Given the description of an element on the screen output the (x, y) to click on. 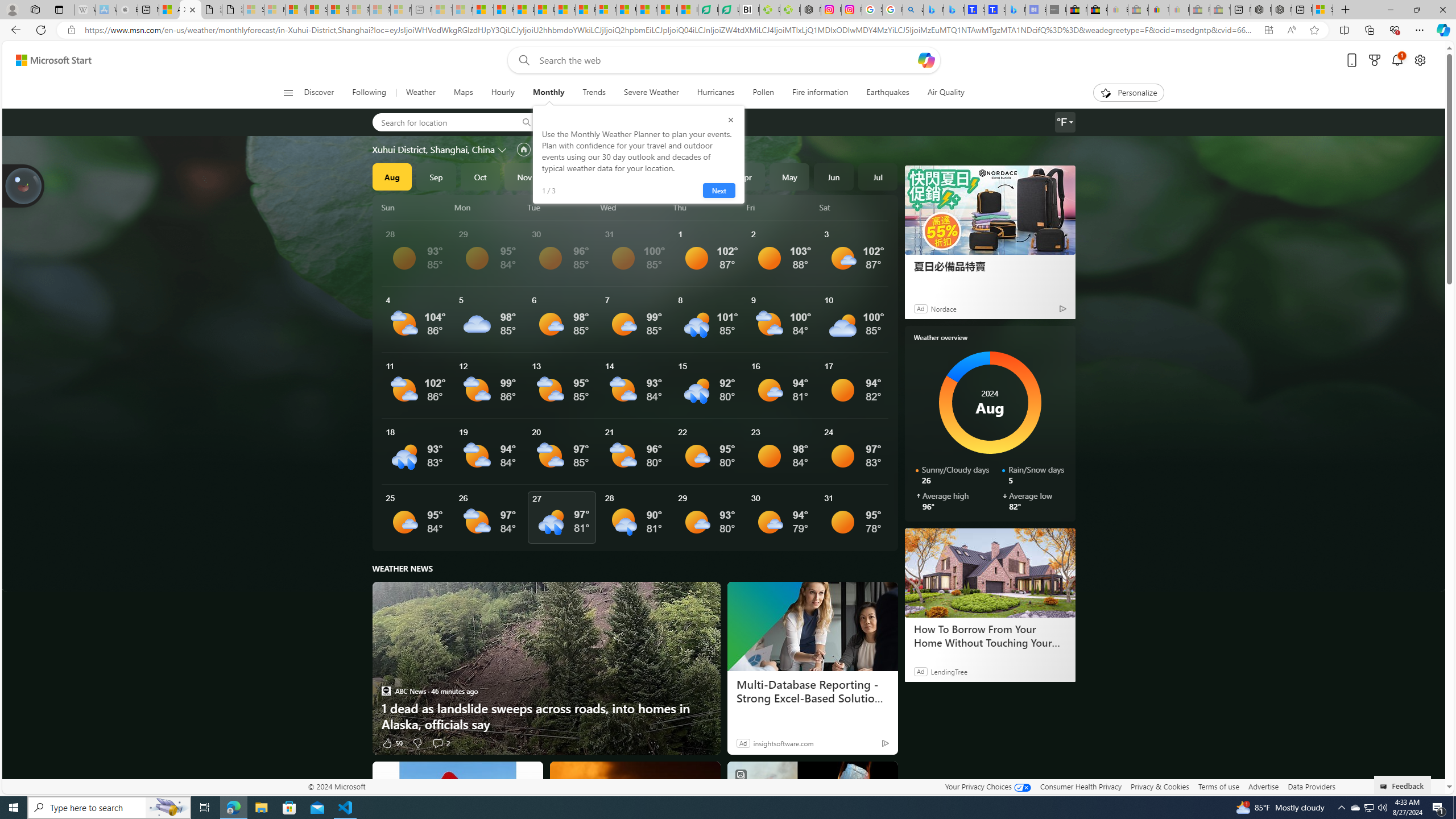
Earthquakes (888, 92)
Terms of use (1218, 786)
US Heat Deaths Soared To Record High Last Year (626, 9)
App available. Install Microsoft Start Weather (1268, 29)
Air Quality (945, 92)
Privacy & Cookies (1160, 785)
